Given the description of an element on the screen output the (x, y) to click on. 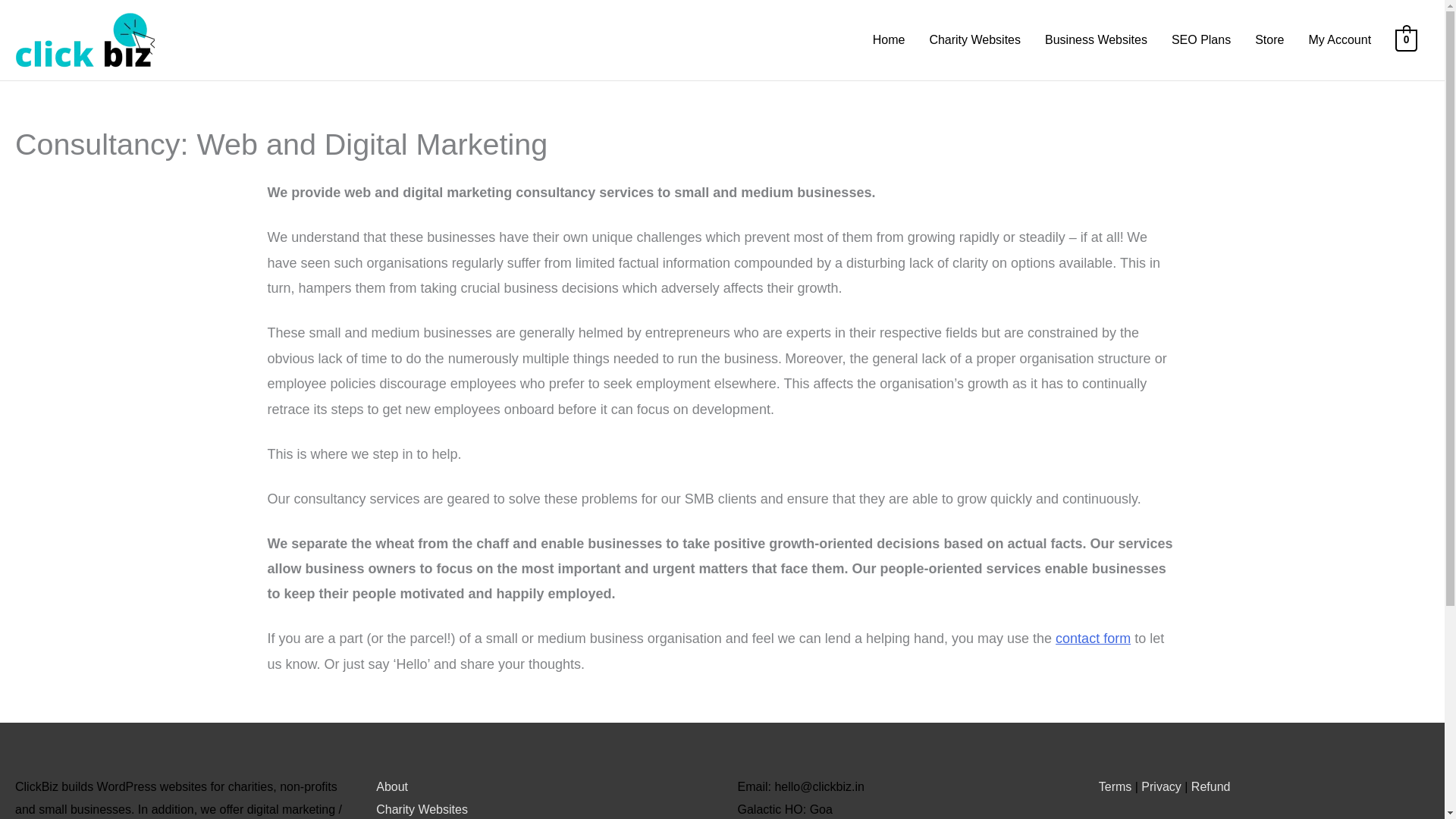
My Account (1339, 39)
Charity Websites (421, 809)
SEO Plans (1200, 39)
Charity Websites (974, 39)
Refund (1210, 786)
Home (888, 39)
0 (1405, 39)
Privacy (1160, 786)
Terms (1115, 786)
Business Websites (1095, 39)
